Given the description of an element on the screen output the (x, y) to click on. 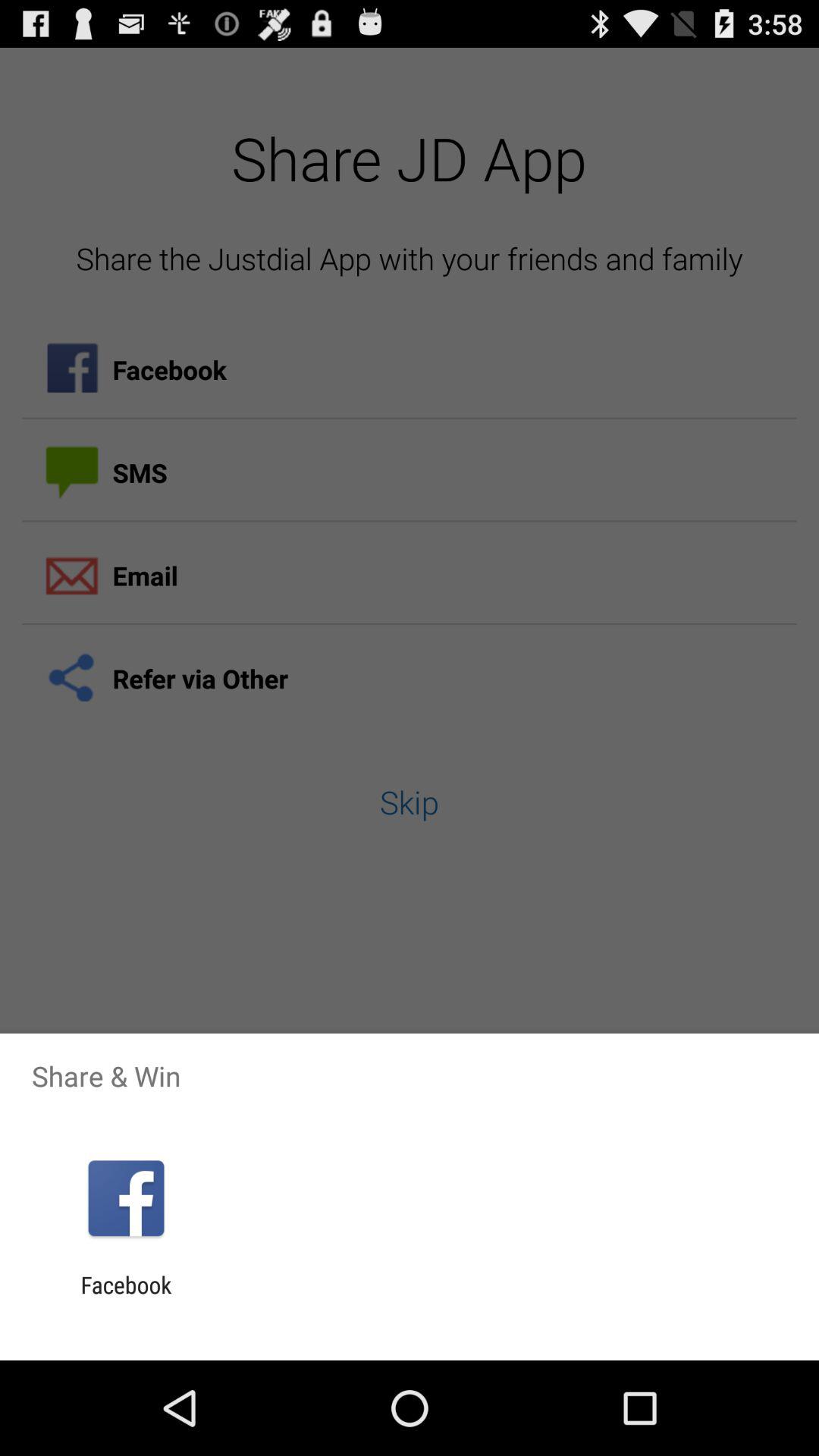
turn on icon above the facebook icon (126, 1198)
